Given the description of an element on the screen output the (x, y) to click on. 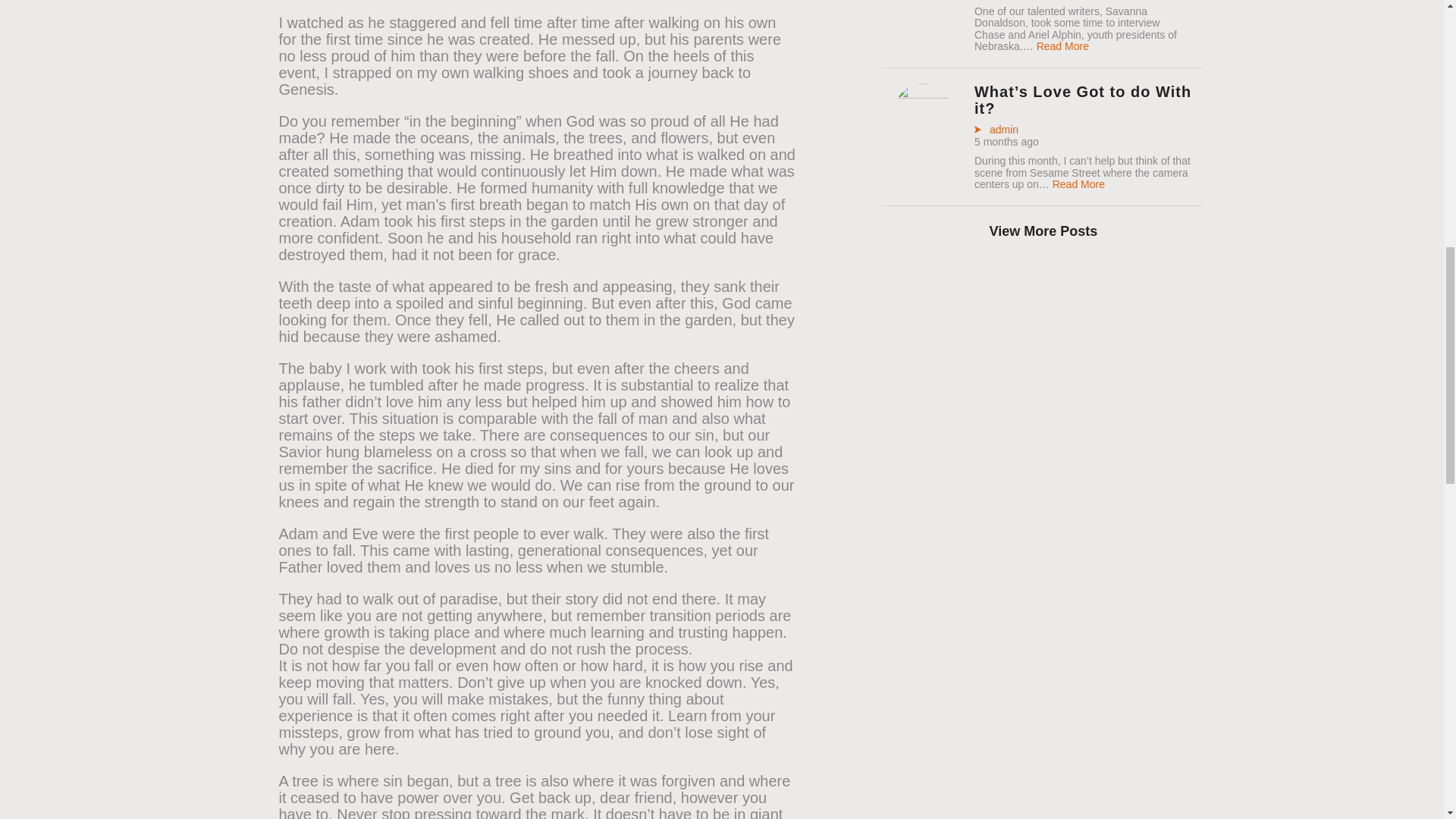
Posts by admin (995, 129)
